Given the description of an element on the screen output the (x, y) to click on. 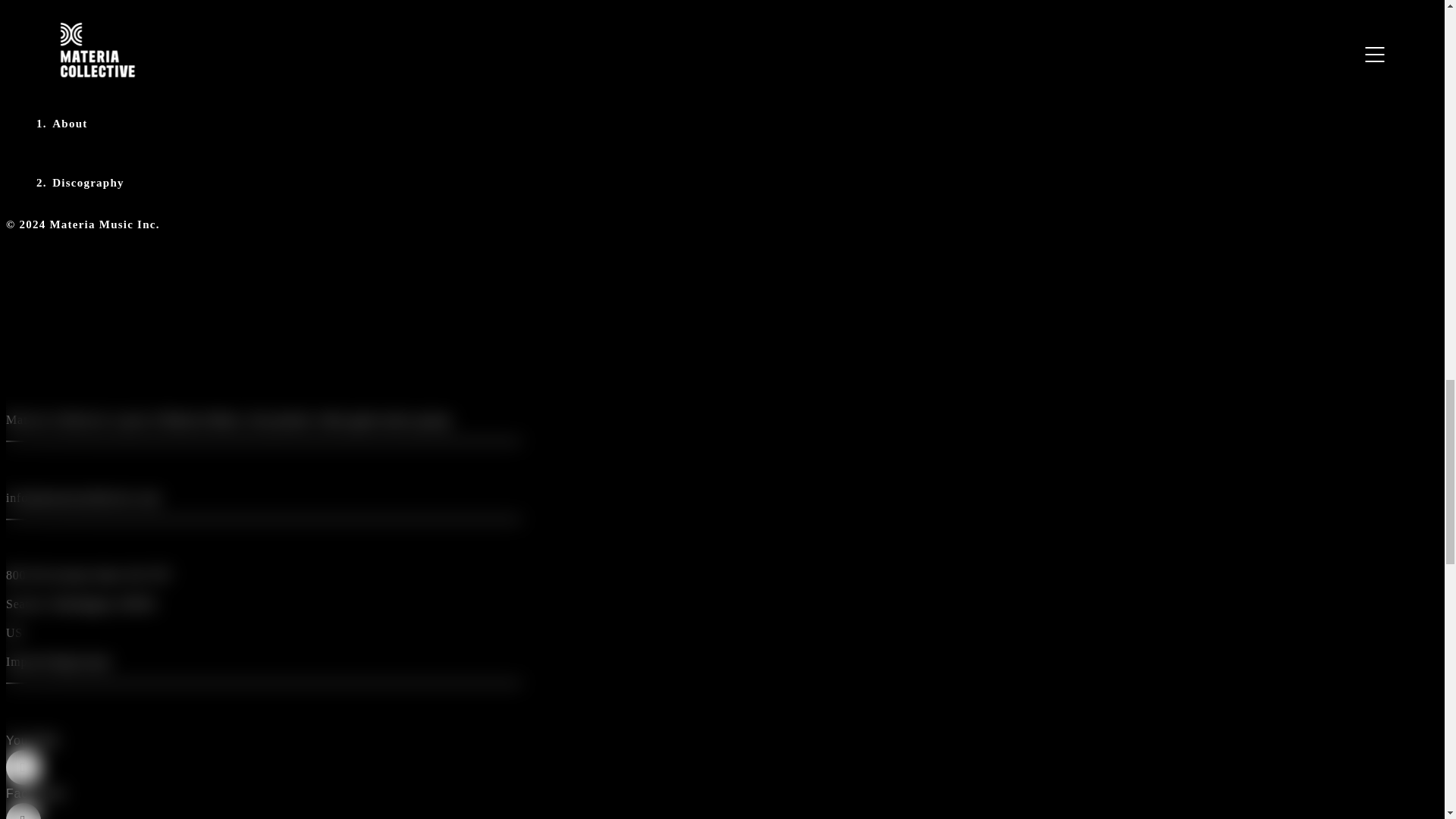
Facebook (263, 803)
Materia Music (203, 419)
YouTube (263, 766)
Video game music record label, music publisher (203, 419)
